Given the description of an element on the screen output the (x, y) to click on. 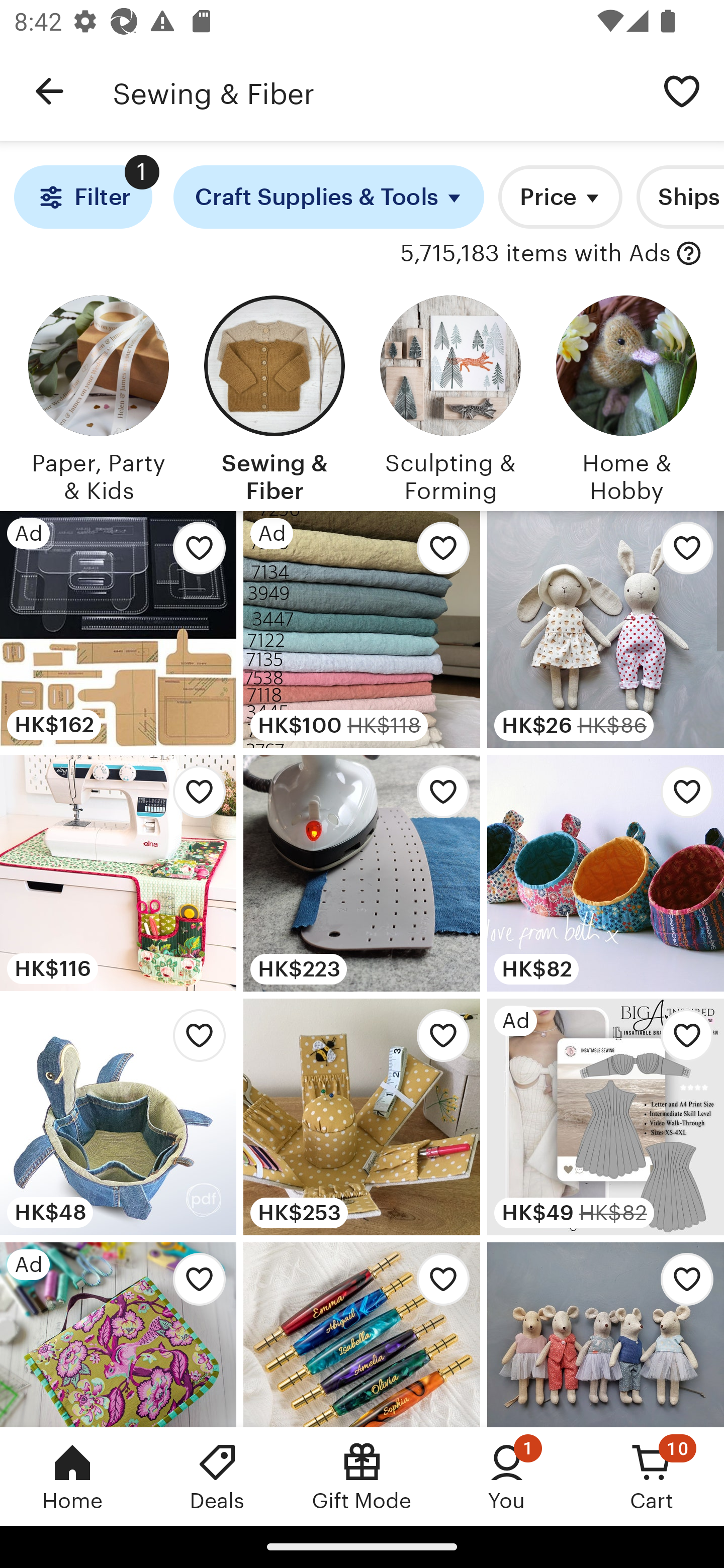
Navigate up (49, 91)
Save search (681, 90)
Sewing & Fiber (375, 91)
Filter (82, 197)
Craft Supplies & Tools (328, 197)
Price (560, 197)
5,715,183 items with Ads (535, 253)
with Ads (688, 253)
Paper, Party & Kids (97, 395)
Sewing & Fiber (273, 395)
Sculpting & Forming (449, 395)
Home & Hobby (625, 395)
Add Sewing Space Station PDF pattern to favorites (194, 796)
Add Jenerates Silicone Hemmer to favorites (438, 796)
Add Bubble Pods Sewing Pattern to favorites (681, 796)
Deals (216, 1475)
Gift Mode (361, 1475)
You, 1 new notification You (506, 1475)
Cart, 10 new notifications Cart (651, 1475)
